Given the description of an element on the screen output the (x, y) to click on. 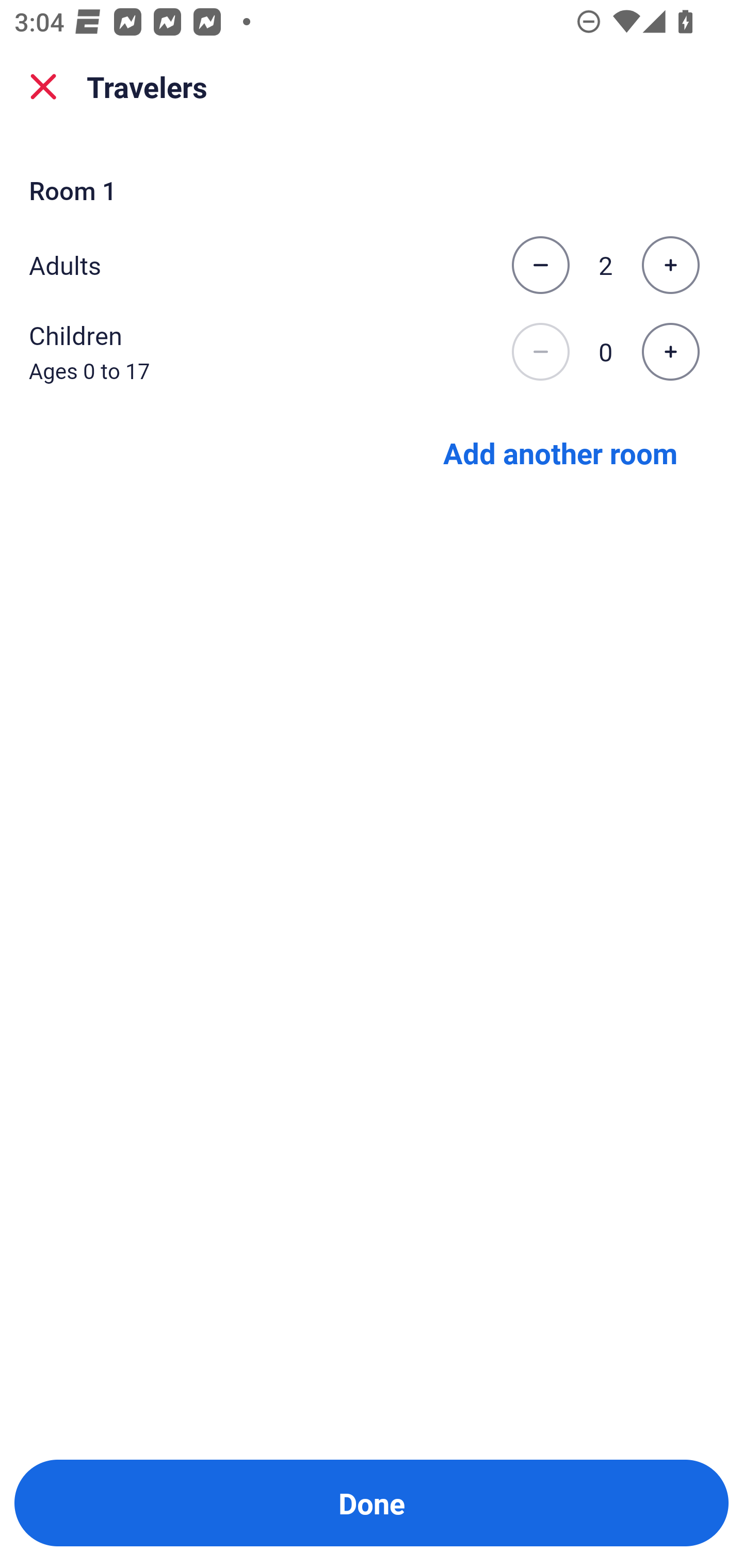
close (43, 86)
Decrease the number of adults (540, 264)
Increase the number of adults (670, 264)
Decrease the number of children (540, 351)
Increase the number of children (670, 351)
Add another room (560, 452)
Done (371, 1502)
